Given the description of an element on the screen output the (x, y) to click on. 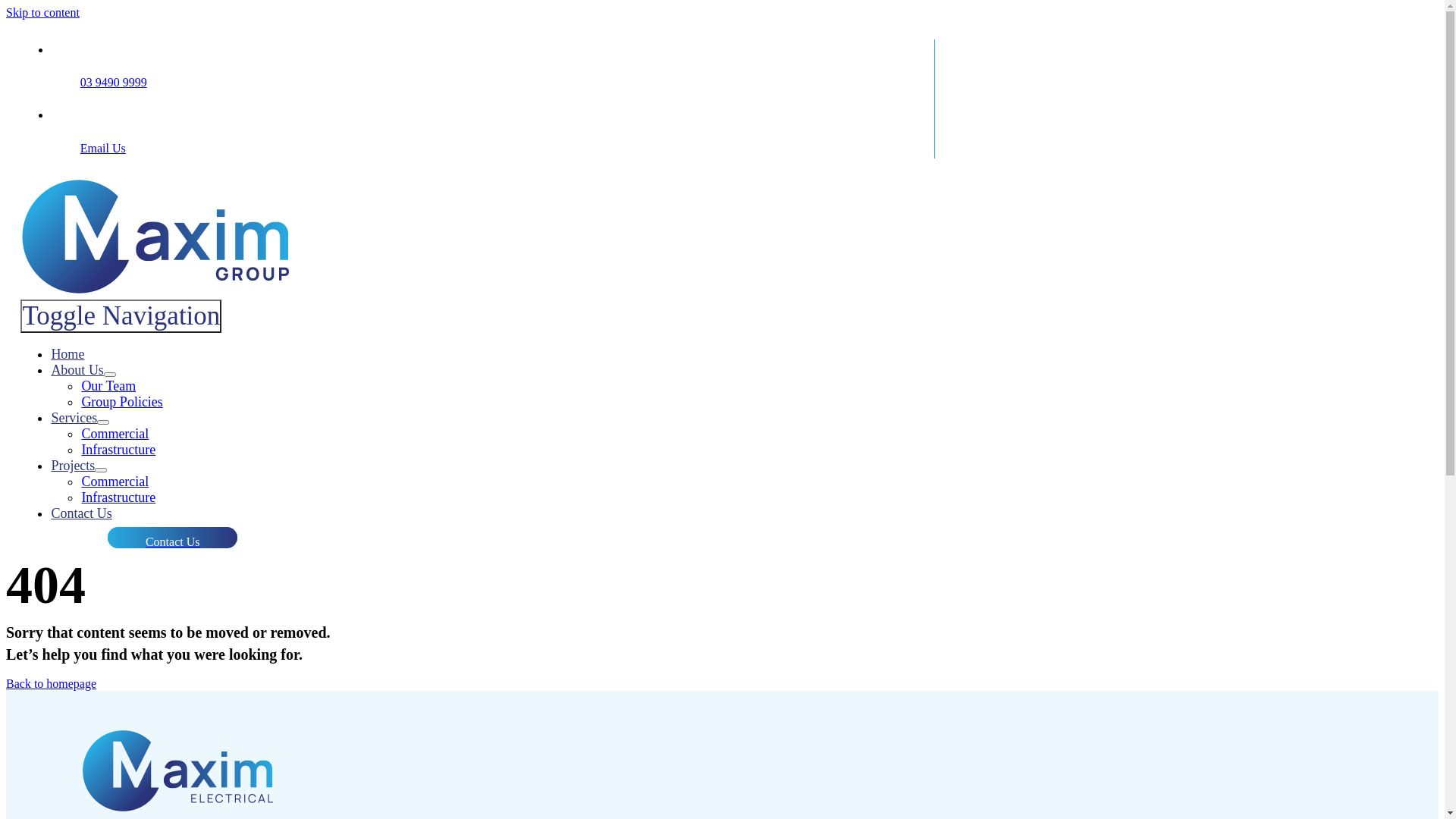
03 9490 9999 Element type: text (113, 81)
maxim_electrical_footer-logo Element type: hover (180, 772)
Infrastructure Element type: text (118, 449)
Contact Us Element type: text (172, 537)
About Us Element type: text (76, 369)
Email Us Element type: text (102, 147)
Back to homepage Element type: text (51, 683)
Services Element type: text (73, 417)
Contact Us Element type: text (81, 512)
Home Element type: text (67, 353)
Our Team Element type: text (108, 385)
Skip to content Element type: text (42, 12)
Group Policies Element type: text (122, 401)
Infrastructure Element type: text (118, 497)
Projects Element type: text (72, 465)
Commercial Element type: text (114, 481)
Commercial Element type: text (114, 433)
Toggle Navigation Element type: text (120, 315)
